Given the description of an element on the screen output the (x, y) to click on. 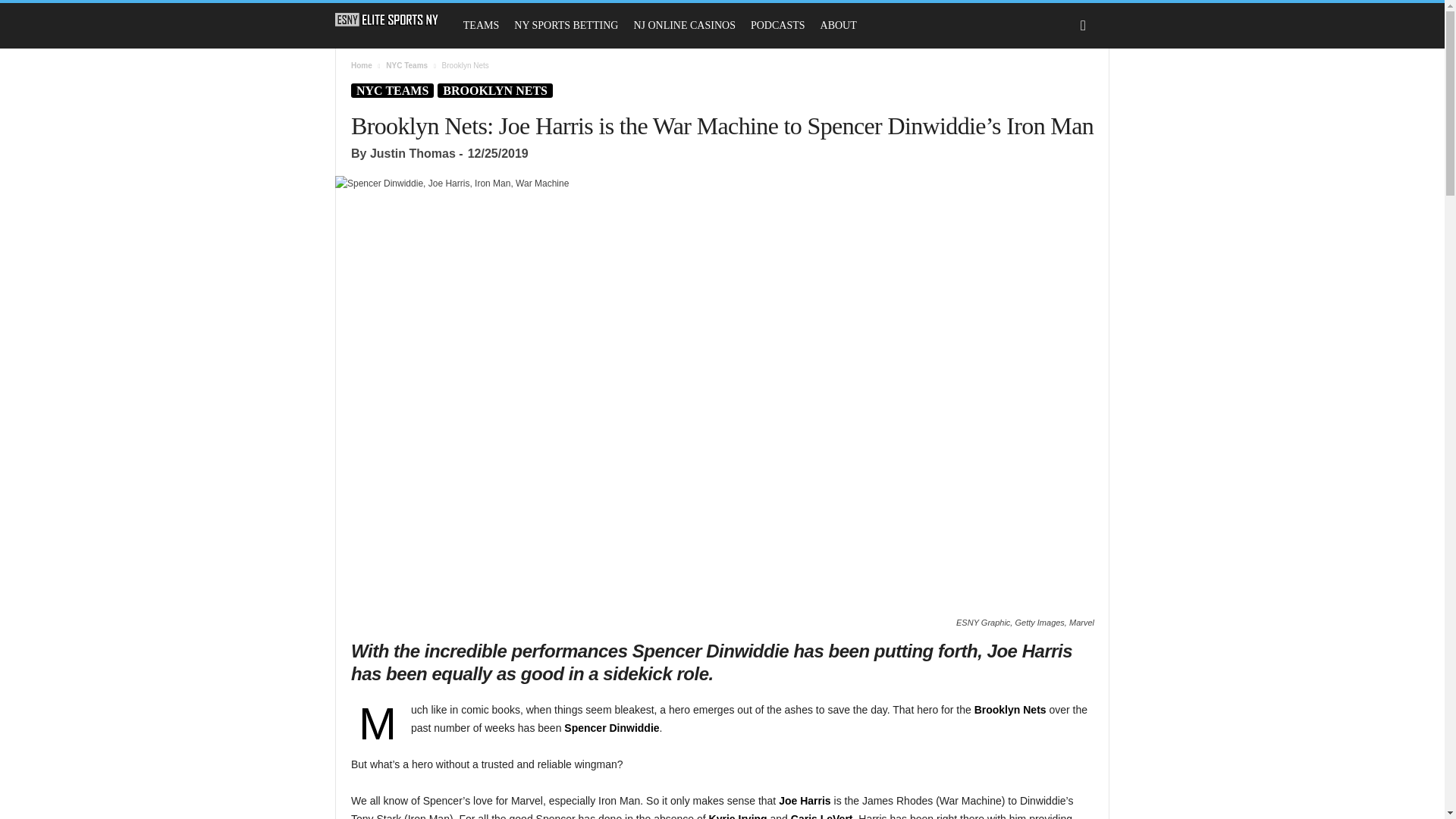
Elite Sports NY (394, 19)
TEAMS (480, 25)
View all posts in NYC Teams (406, 65)
Elite Sports NY (386, 19)
